Given the description of an element on the screen output the (x, y) to click on. 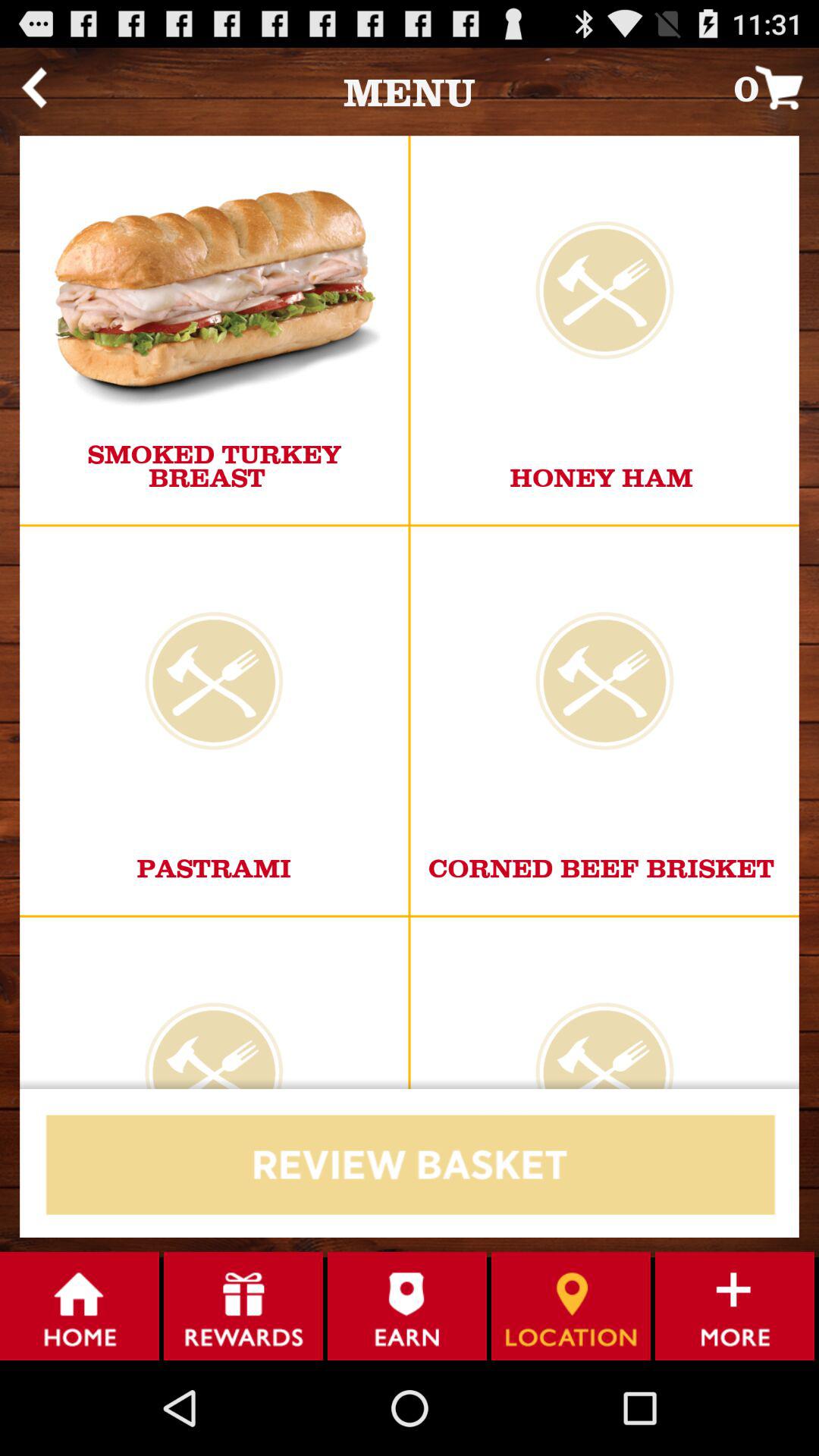
select app next to the menu (33, 87)
